Given the description of an element on the screen output the (x, y) to click on. 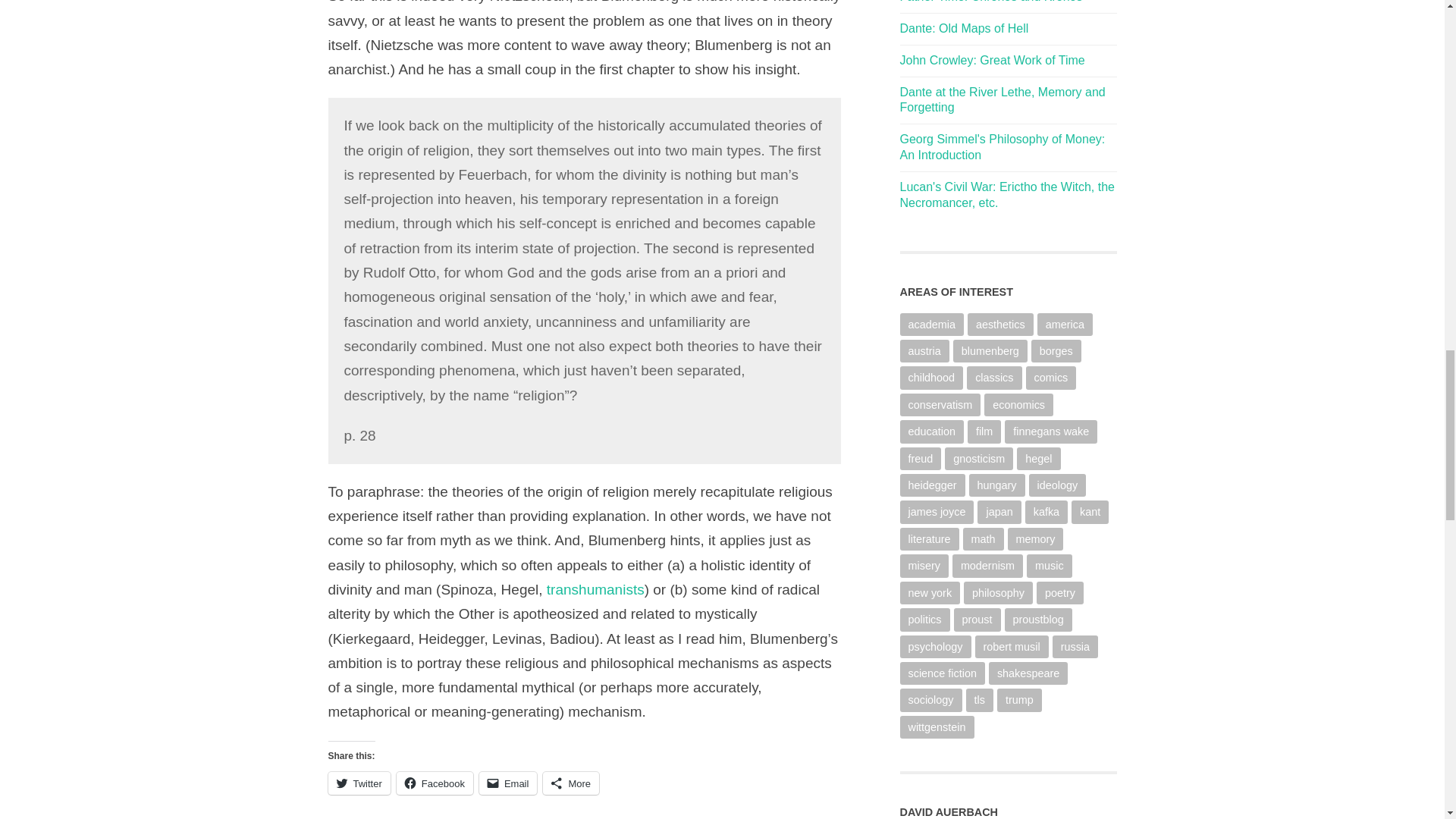
Twitter (358, 783)
Click to share on Twitter (358, 783)
Facebook (434, 783)
Click to email a link to a friend (508, 783)
More (570, 783)
Click to share on Facebook (434, 783)
transhumanists (596, 589)
Email (508, 783)
